Given the description of an element on the screen output the (x, y) to click on. 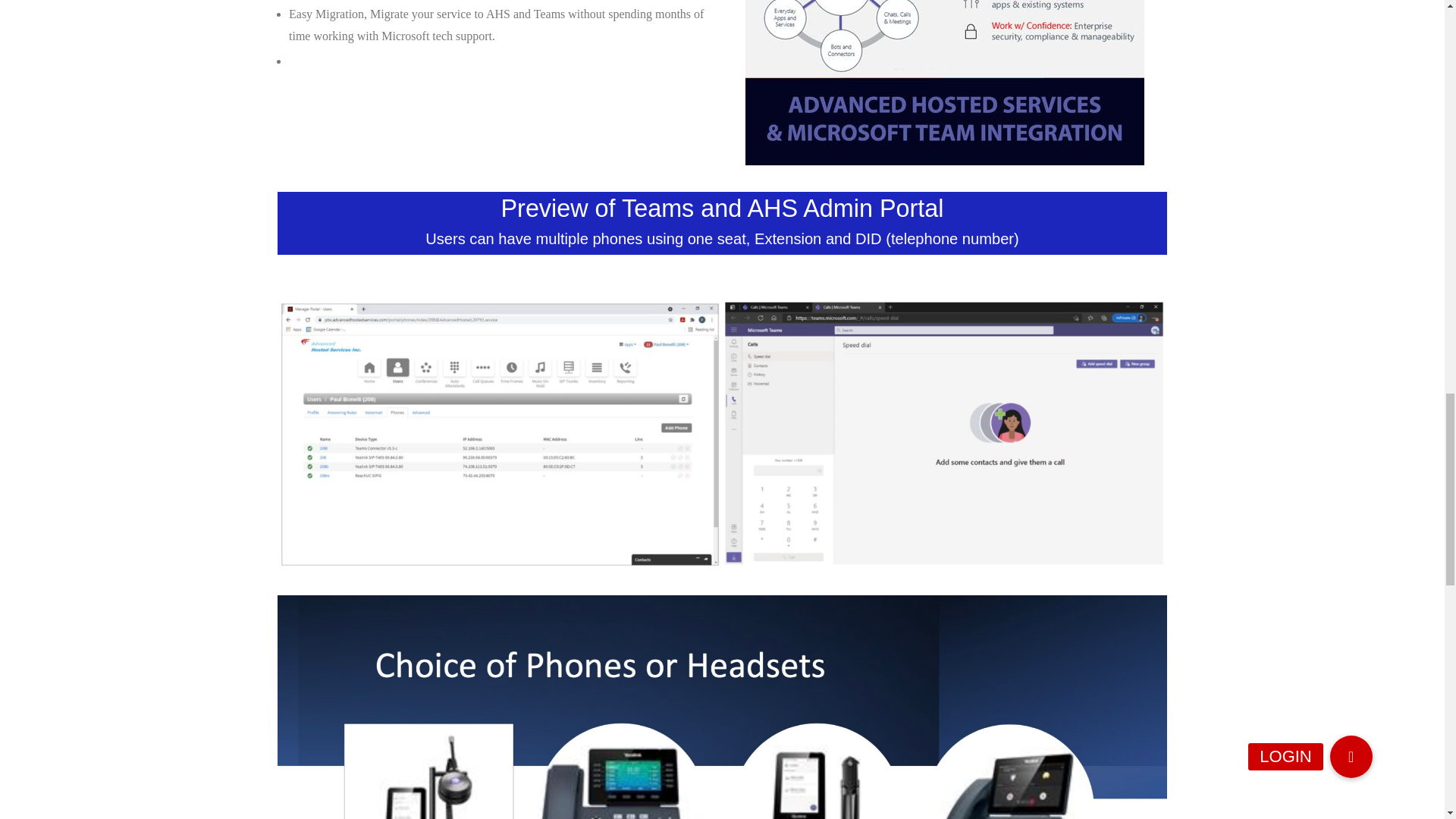
Screen Shot 2021-05-11 at 4.09.53 PM (944, 434)
Screen Shot 2021-05-11 at 4.09.45 PM (500, 434)
